Given the description of an element on the screen output the (x, y) to click on. 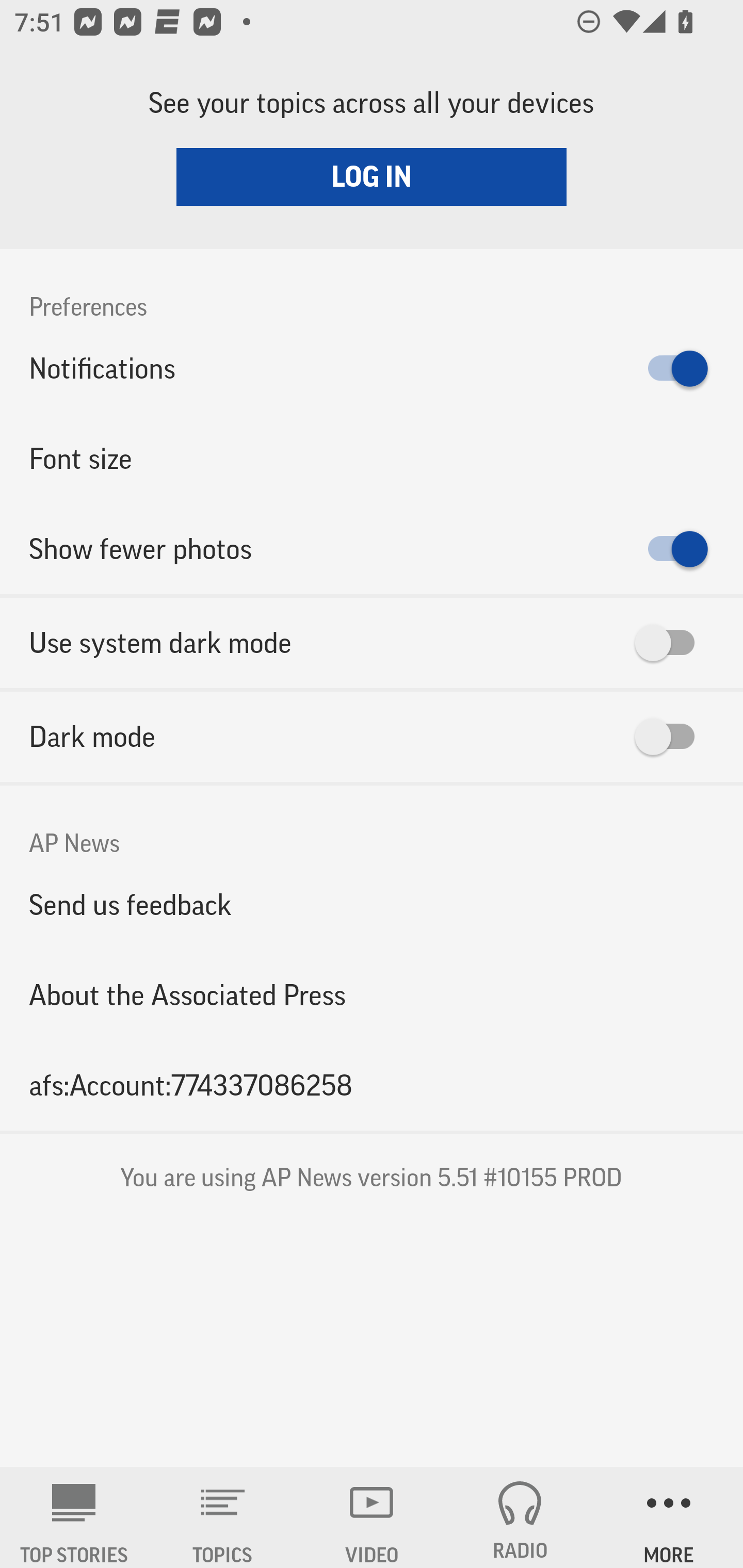
LOG IN (371, 176)
Notifications (371, 368)
Font size (371, 458)
Show fewer photos (371, 548)
Use system dark mode (371, 642)
Dark mode (371, 736)
Send us feedback (371, 904)
About the Associated Press (371, 994)
afs:Account:774337086258 (371, 1084)
AP News TOP STORIES (74, 1517)
TOPICS (222, 1517)
VIDEO (371, 1517)
RADIO (519, 1517)
MORE (668, 1517)
